Given the description of an element on the screen output the (x, y) to click on. 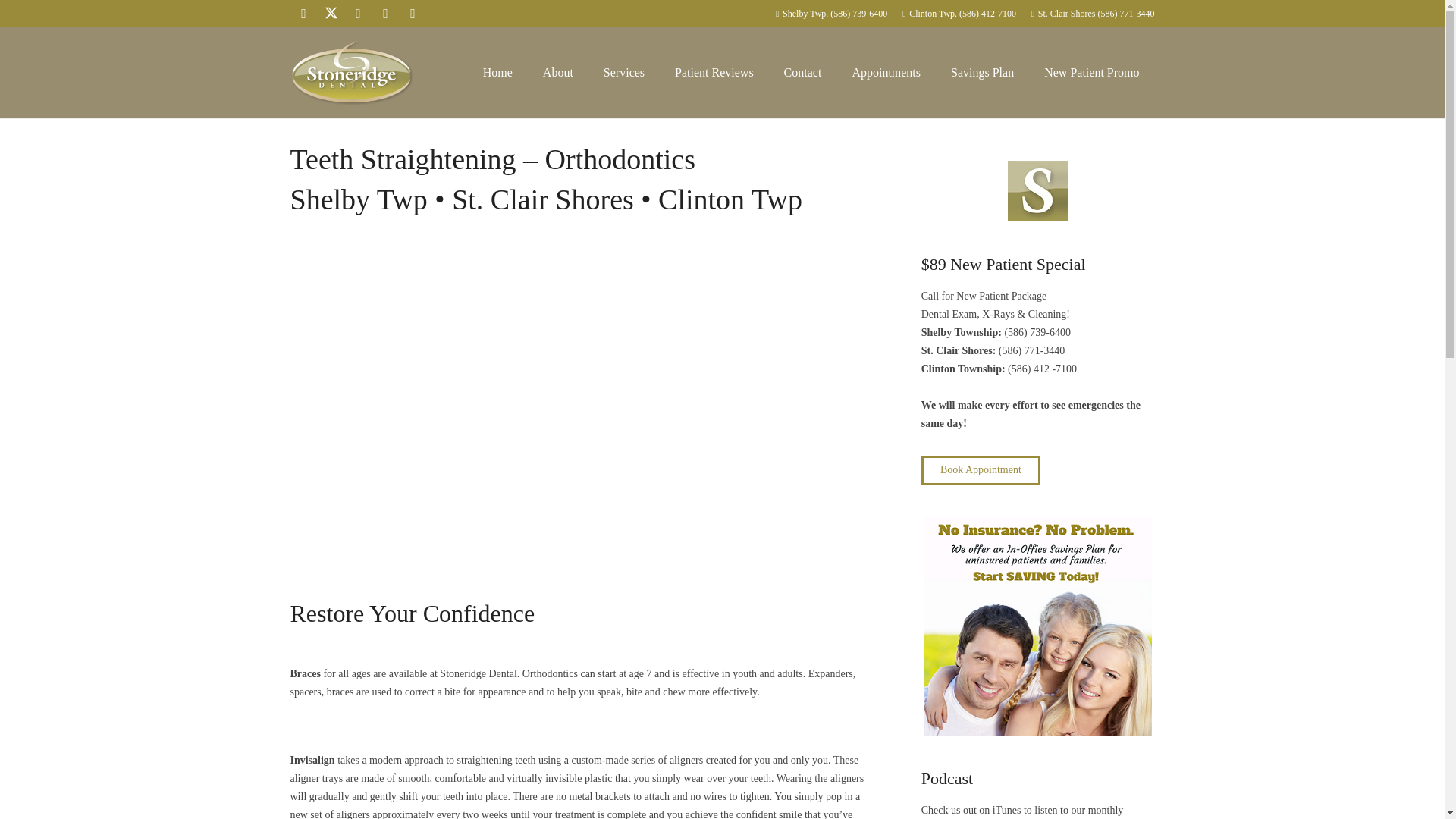
Book Appointment (981, 470)
Title (412, 13)
Savings Plan (982, 72)
Facebook (303, 13)
Google (357, 13)
LinkedIn (384, 13)
Twitter (330, 13)
Appointments (885, 72)
Patient Reviews (713, 72)
New Patient Promo (1091, 72)
